Given the description of an element on the screen output the (x, y) to click on. 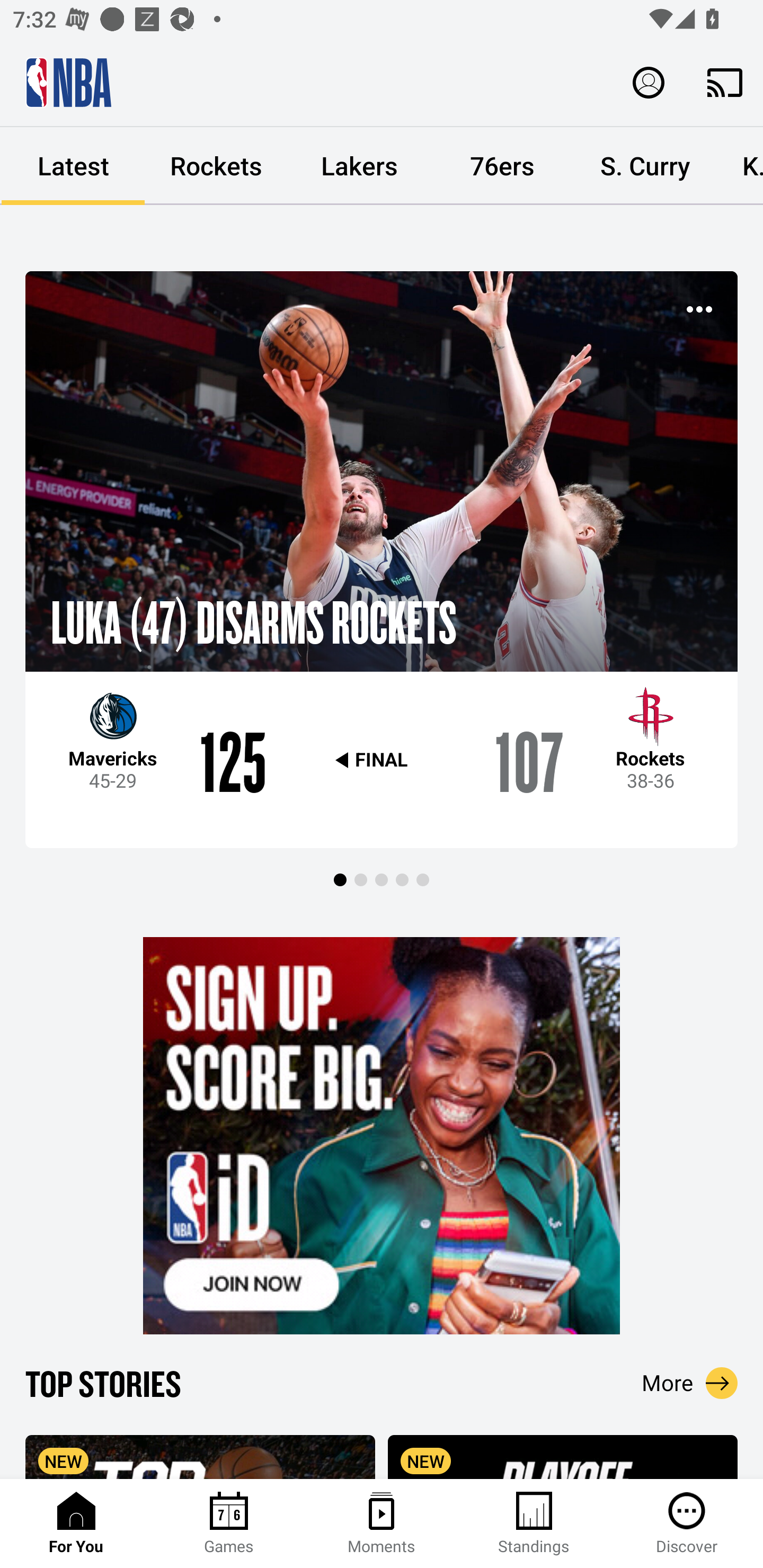
Cast. Disconnected (724, 82)
Profile (648, 81)
Rockets (215, 166)
Lakers (359, 166)
76ers (502, 166)
S. Curry (645, 166)
K. Durant (740, 166)
g5nqqygr7owph (381, 1135)
More (689, 1382)
Games (228, 1523)
Moments (381, 1523)
Standings (533, 1523)
Discover (686, 1523)
